Given the description of an element on the screen output the (x, y) to click on. 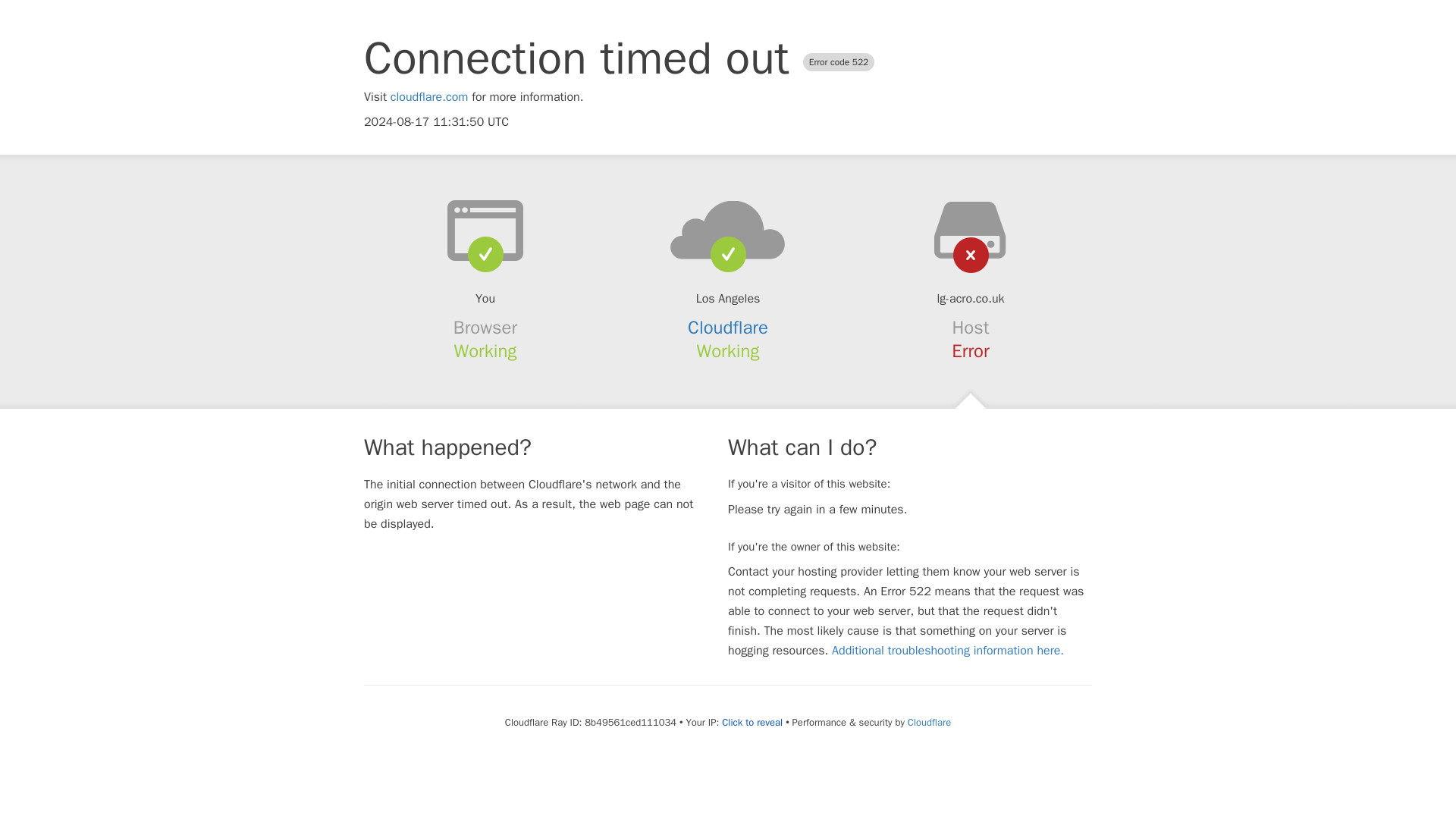
cloudflare.com (429, 96)
Click to reveal (752, 722)
Cloudflare (727, 327)
Cloudflare (928, 721)
Additional troubleshooting information here. (947, 650)
